Given the description of an element on the screen output the (x, y) to click on. 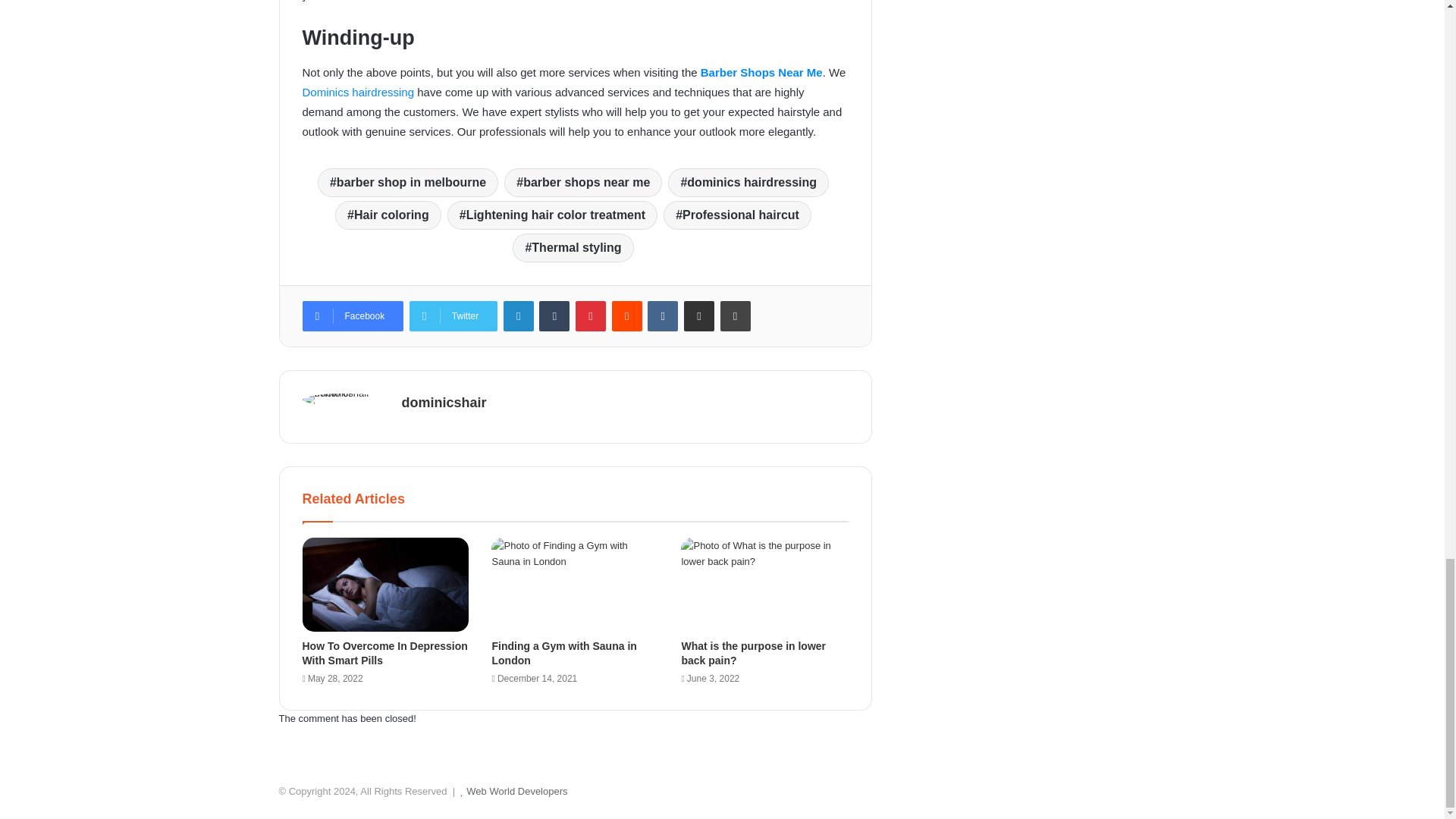
barber shops near me (582, 182)
VKontakte (662, 316)
Facebook (352, 316)
Tumblr (553, 316)
Barber Shops Near Me (761, 72)
Reddit (626, 316)
Dominics hairdressing (357, 91)
Share via Email (699, 316)
Hair coloring (387, 215)
barber shop in melbourne (407, 182)
Twitter (453, 316)
dominics hairdressing (748, 182)
Print (735, 316)
LinkedIn (518, 316)
Barber Shops Near Me (761, 72)
